Given the description of an element on the screen output the (x, y) to click on. 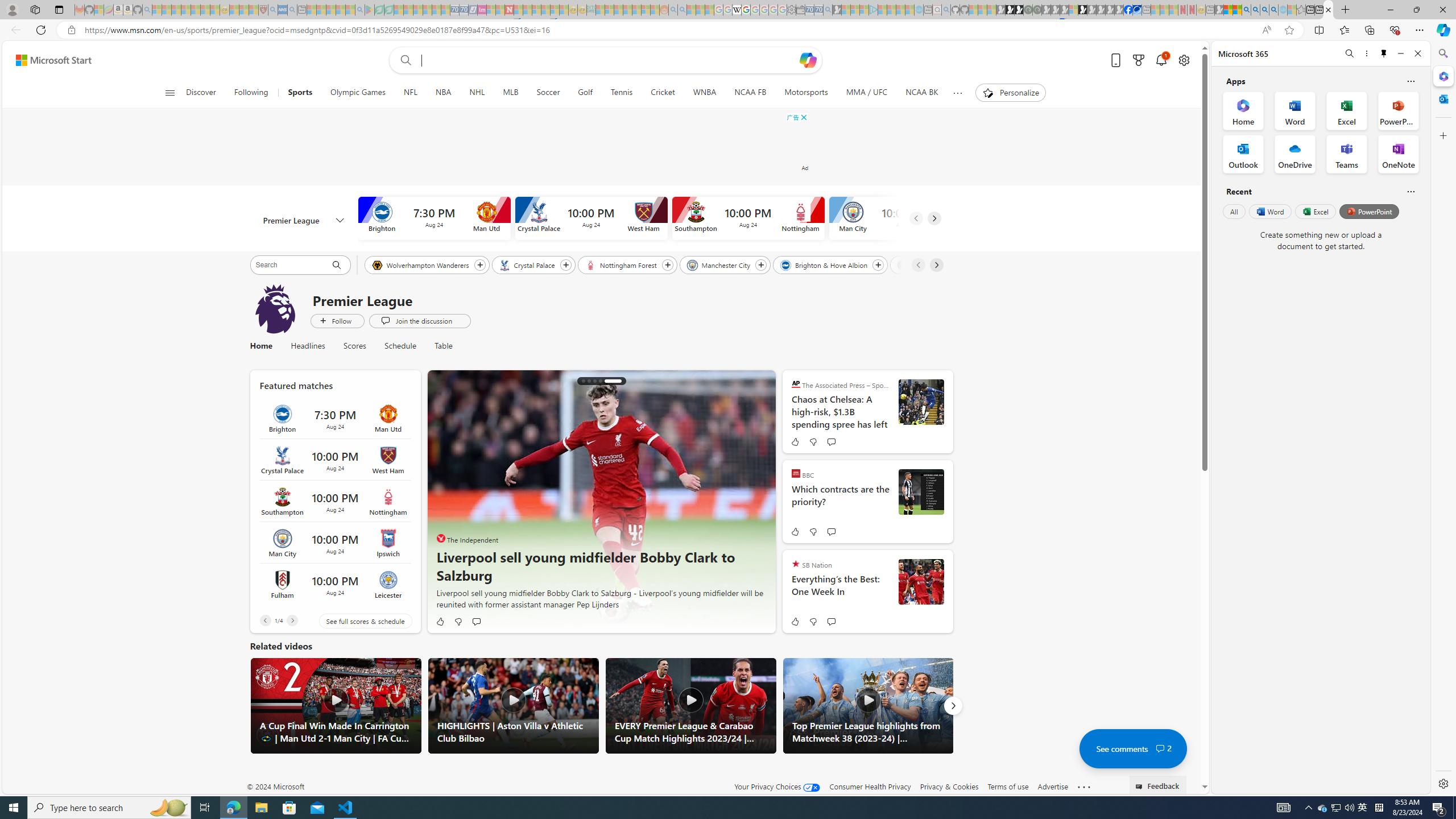
Scores (354, 345)
Front Office Sports (440, 537)
Wolverhampton Wanderers (420, 264)
Golf (585, 92)
Tennis (621, 92)
